Given the description of an element on the screen output the (x, y) to click on. 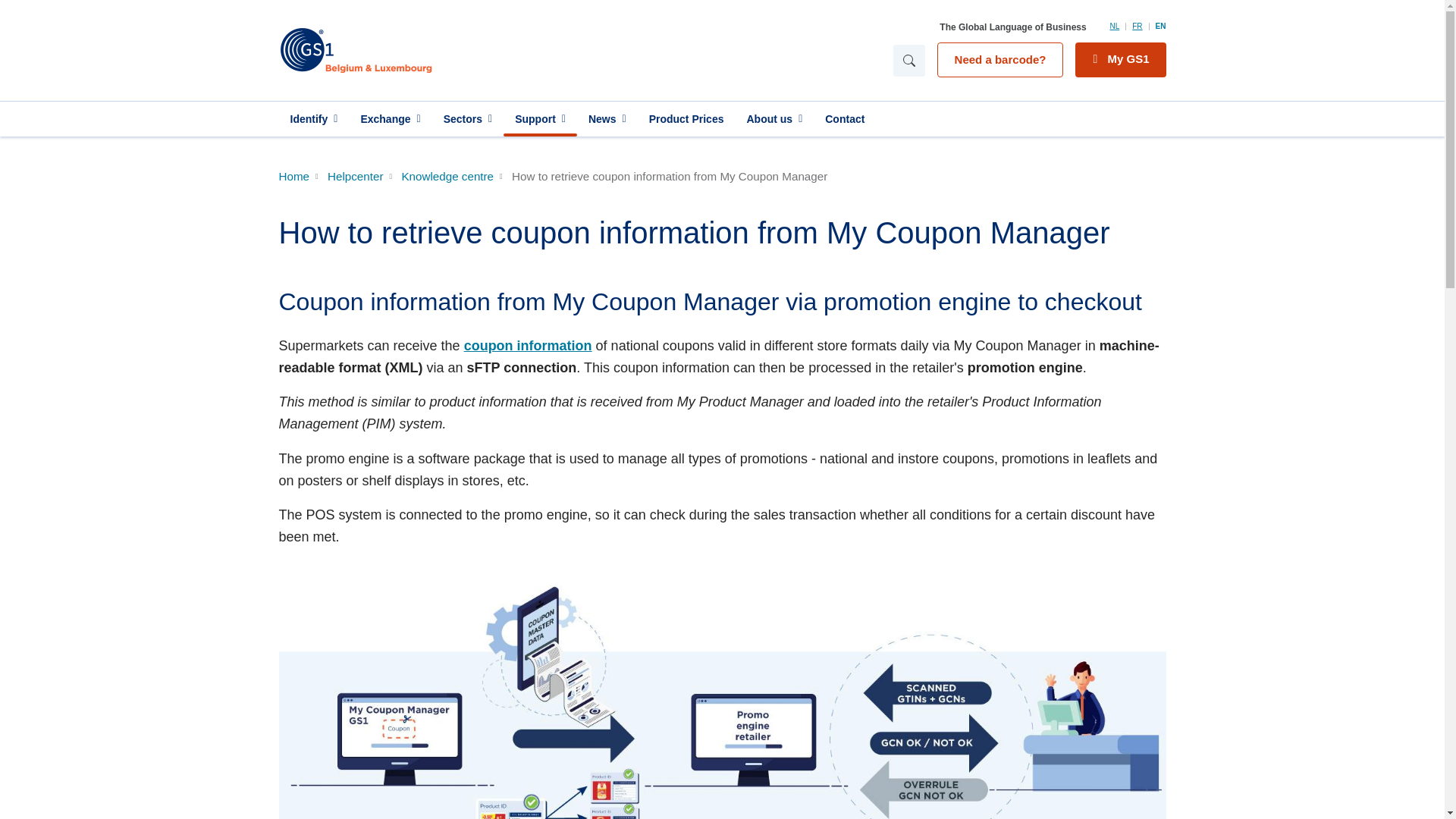
Go to the homepage (478, 50)
Need a barcode? (1000, 59)
My GS1 (1120, 59)
NL (1114, 26)
FR (1136, 26)
Search (908, 60)
Do you need a barcode? (1000, 59)
EN (1161, 26)
Search (908, 60)
